Given the description of an element on the screen output the (x, y) to click on. 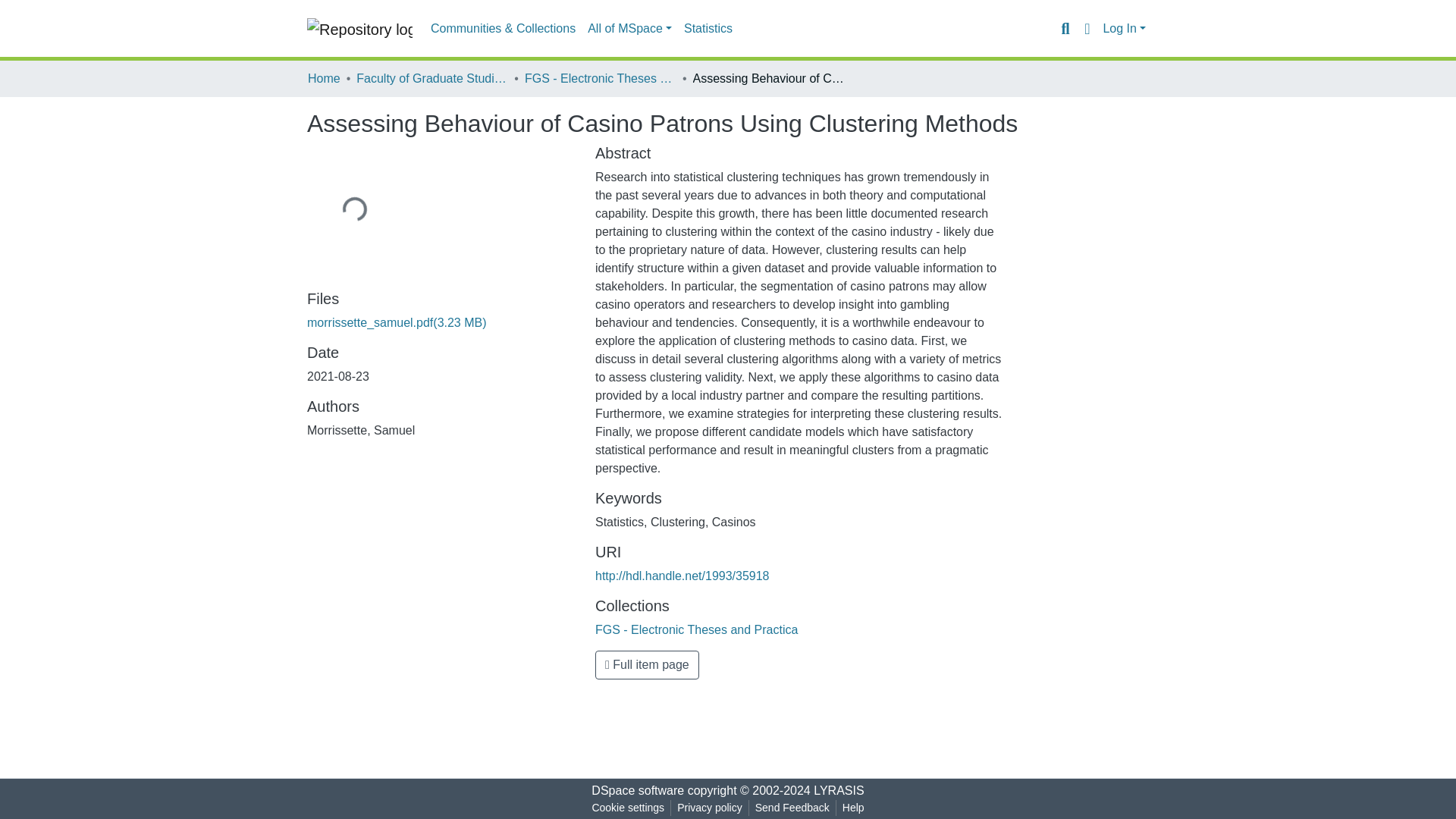
Log In (1123, 28)
Privacy policy (709, 807)
Send Feedback (792, 807)
Help (852, 807)
Cookie settings (627, 807)
All of MSpace (629, 28)
Statistics (708, 28)
Home (323, 78)
Search (1064, 28)
LYRASIS (838, 789)
FGS - Electronic Theses and Practica (600, 78)
FGS - Electronic Theses and Practica (696, 629)
Language switch (1086, 28)
Full item page (646, 664)
DSpace software (637, 789)
